Given the description of an element on the screen output the (x, y) to click on. 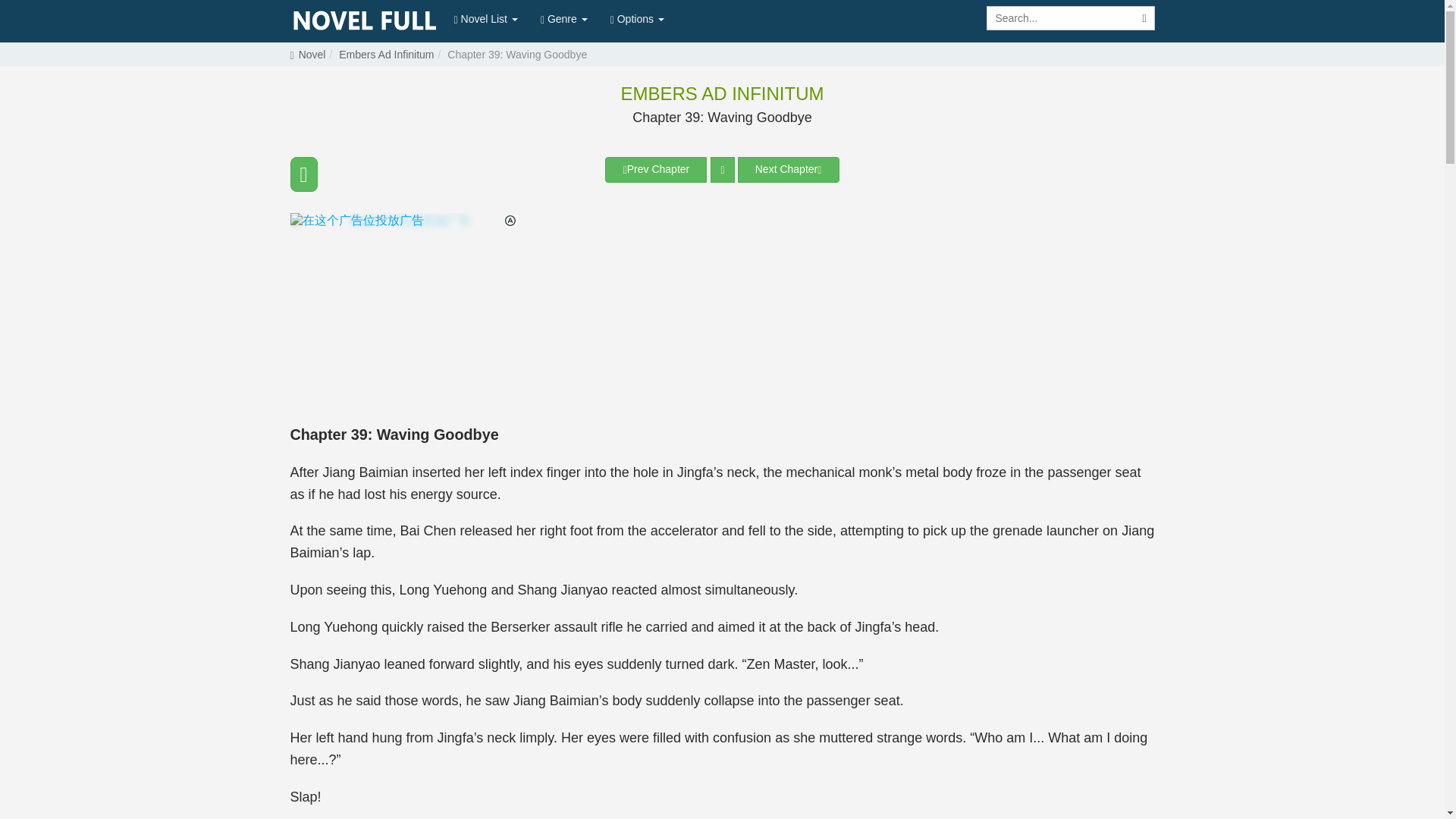
Read novel online (363, 21)
Genre (563, 18)
Novel List (485, 18)
